Given the description of an element on the screen output the (x, y) to click on. 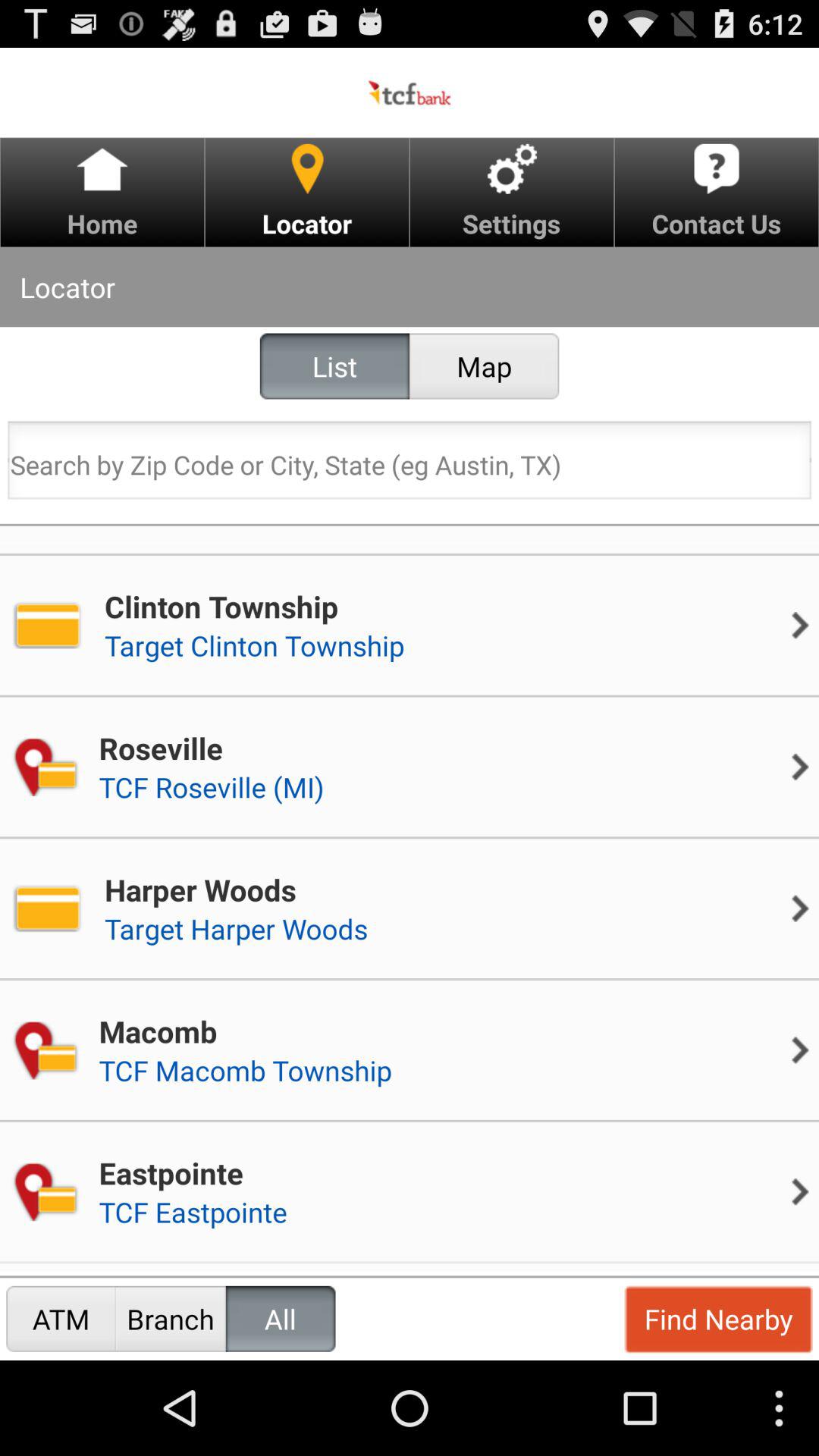
turn on icon next to the find nearby button (280, 1318)
